Given the description of an element on the screen output the (x, y) to click on. 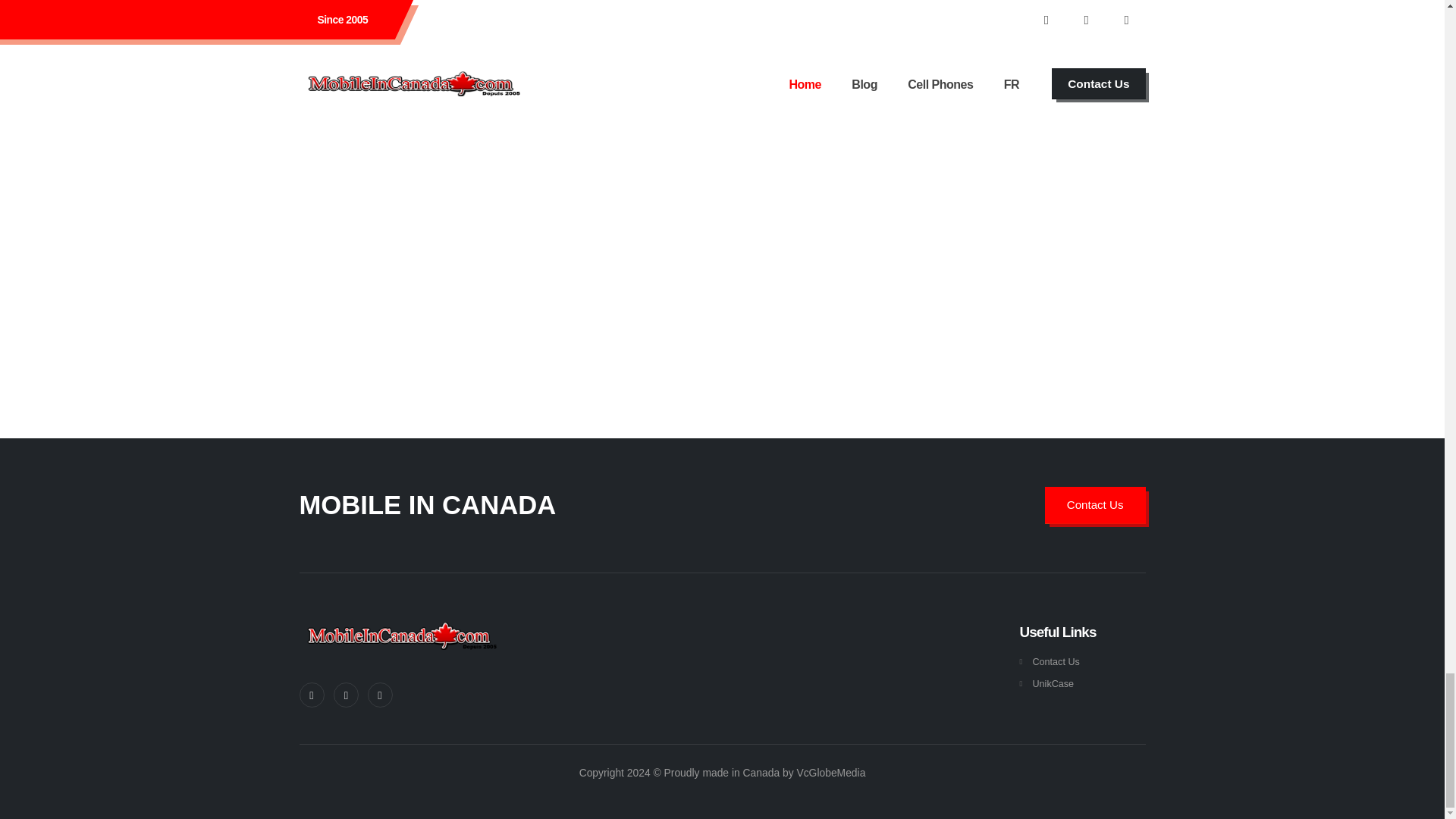
Twitter (345, 693)
Youtube (378, 693)
Facebook (310, 693)
